Given the description of an element on the screen output the (x, y) to click on. 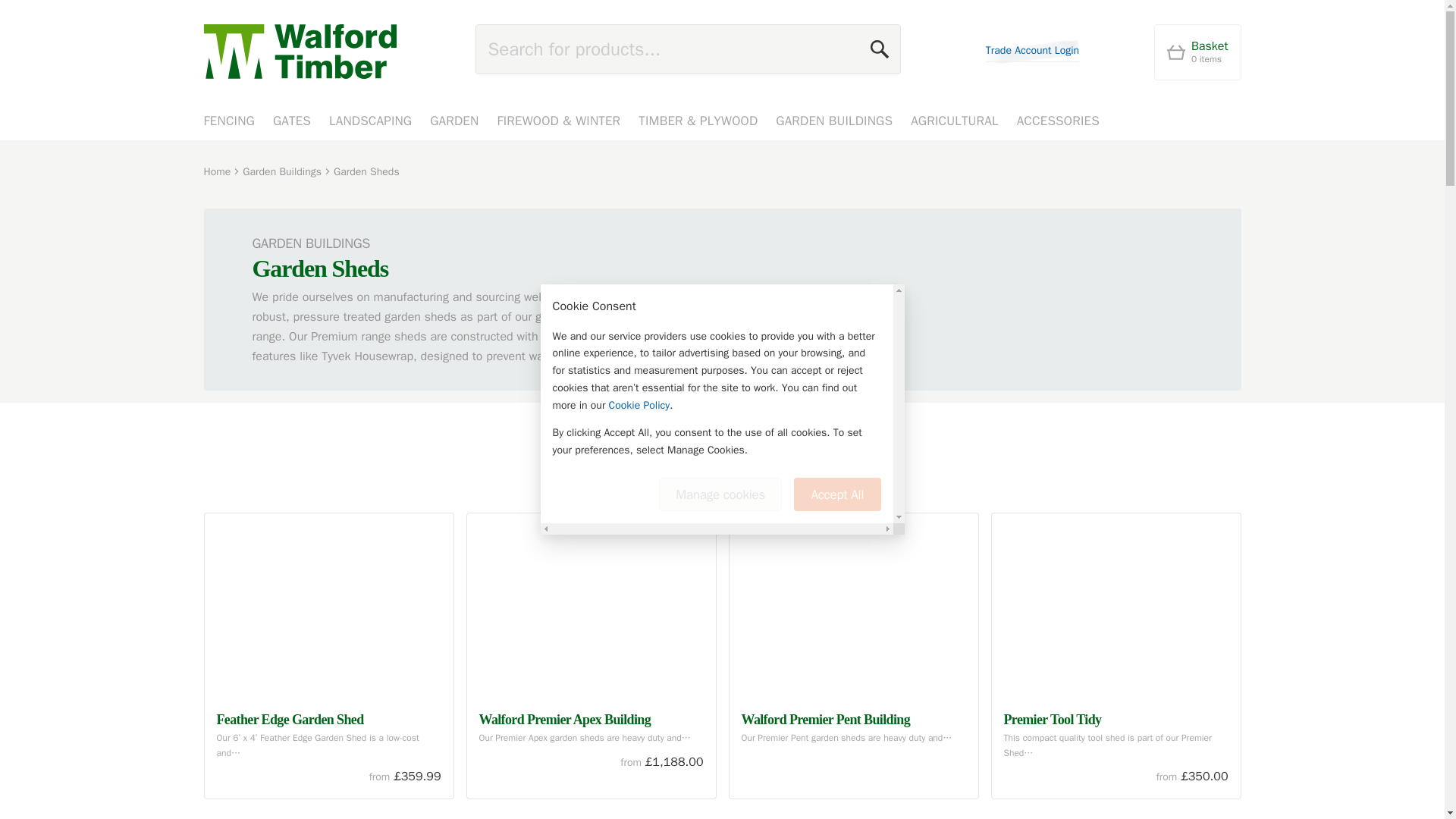
FENCING (228, 122)
Trade Account Login (1031, 51)
Walford Timber (1197, 52)
